Given the description of an element on the screen output the (x, y) to click on. 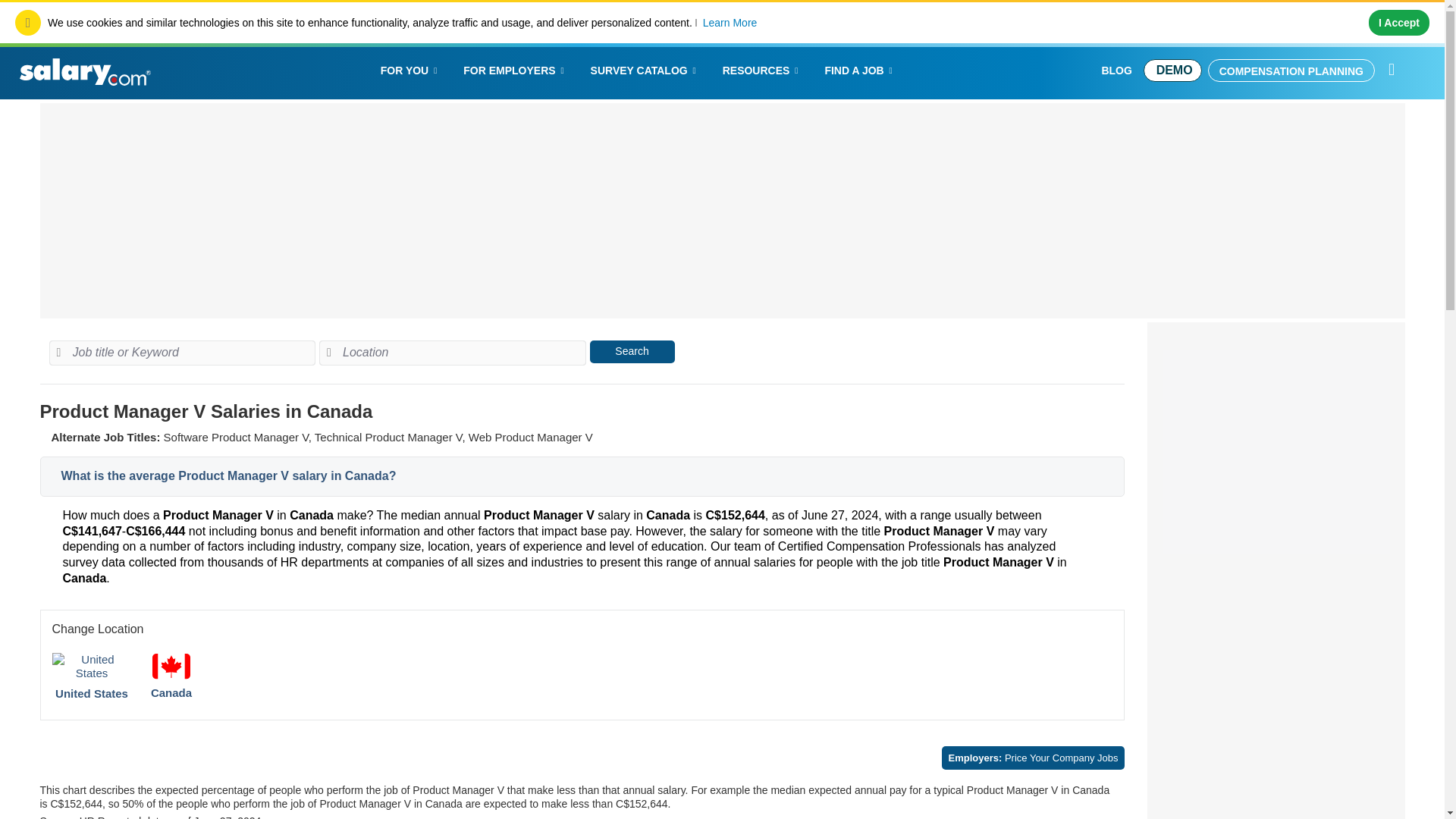
FOR EMPLOYERS (514, 70)
I Accept (1398, 22)
FOR YOU (410, 70)
DEMO (1172, 69)
Employers: Price Your Company Jobs (1033, 757)
United States (91, 693)
Canada (171, 692)
SURVEY CATALOG (645, 70)
RESOURCES (762, 70)
FIND A JOB (859, 70)
Search (632, 351)
COMPENSATION PLANNING (1291, 69)
BLOG (1115, 70)
